Given the description of an element on the screen output the (x, y) to click on. 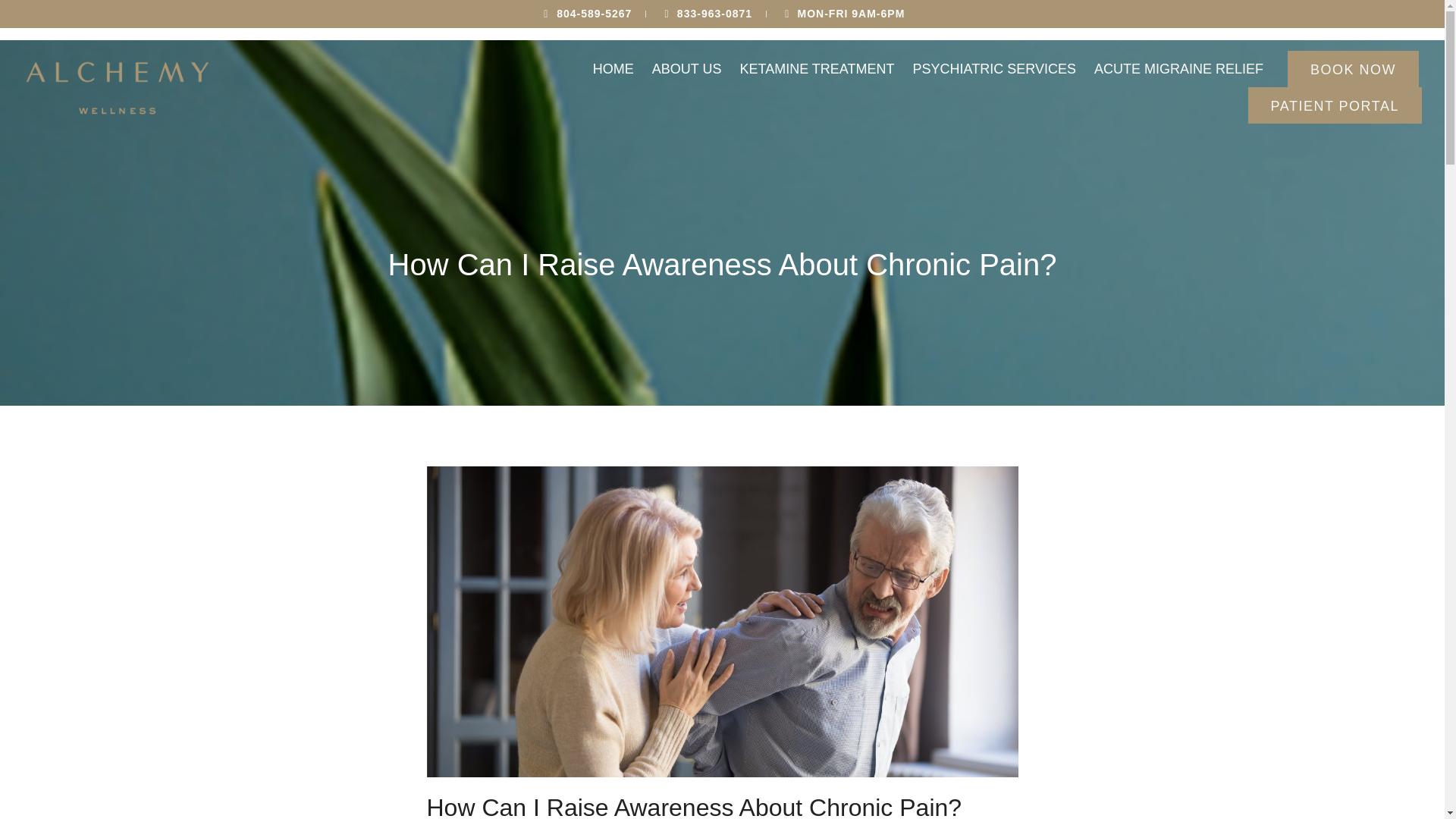
ACUTE MIGRAINE RELIEF (1178, 68)
KETAMINE TREATMENT (817, 68)
PSYCHIATRIC SERVICES (994, 68)
BOOK NOW (1352, 68)
PATIENT PORTAL (1334, 104)
804-589-5267 (585, 14)
ABOUT US (687, 68)
HOME (613, 68)
